Given the description of an element on the screen output the (x, y) to click on. 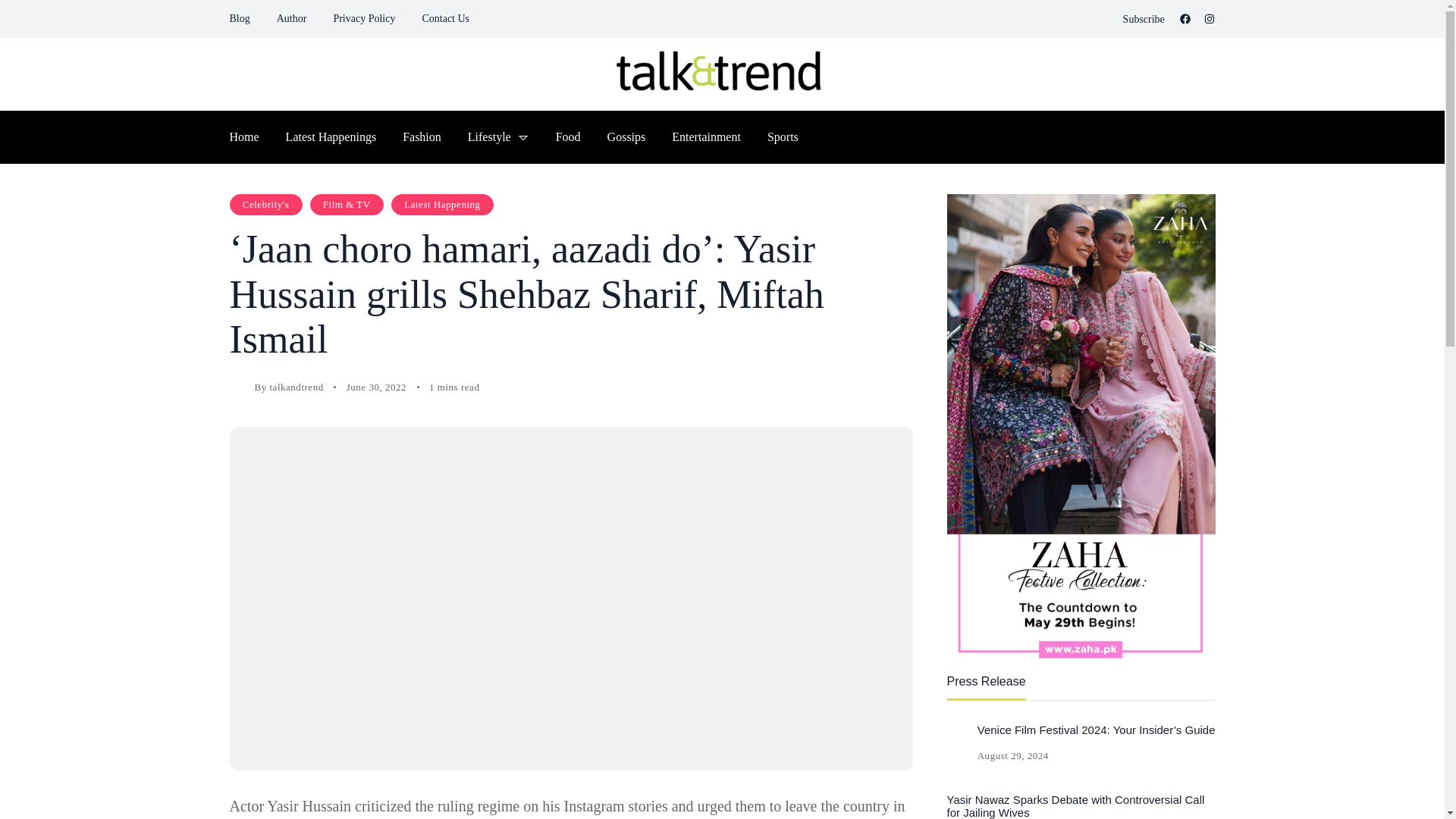
Blog (238, 18)
June 30, 2022 (376, 387)
Posts by talkandtrend (296, 387)
Contact Us (445, 18)
Author (291, 18)
facebook (1185, 18)
Celebrity's (264, 204)
Latest Happenings (331, 136)
instagram (1209, 18)
Latest Happening (442, 204)
